Given the description of an element on the screen output the (x, y) to click on. 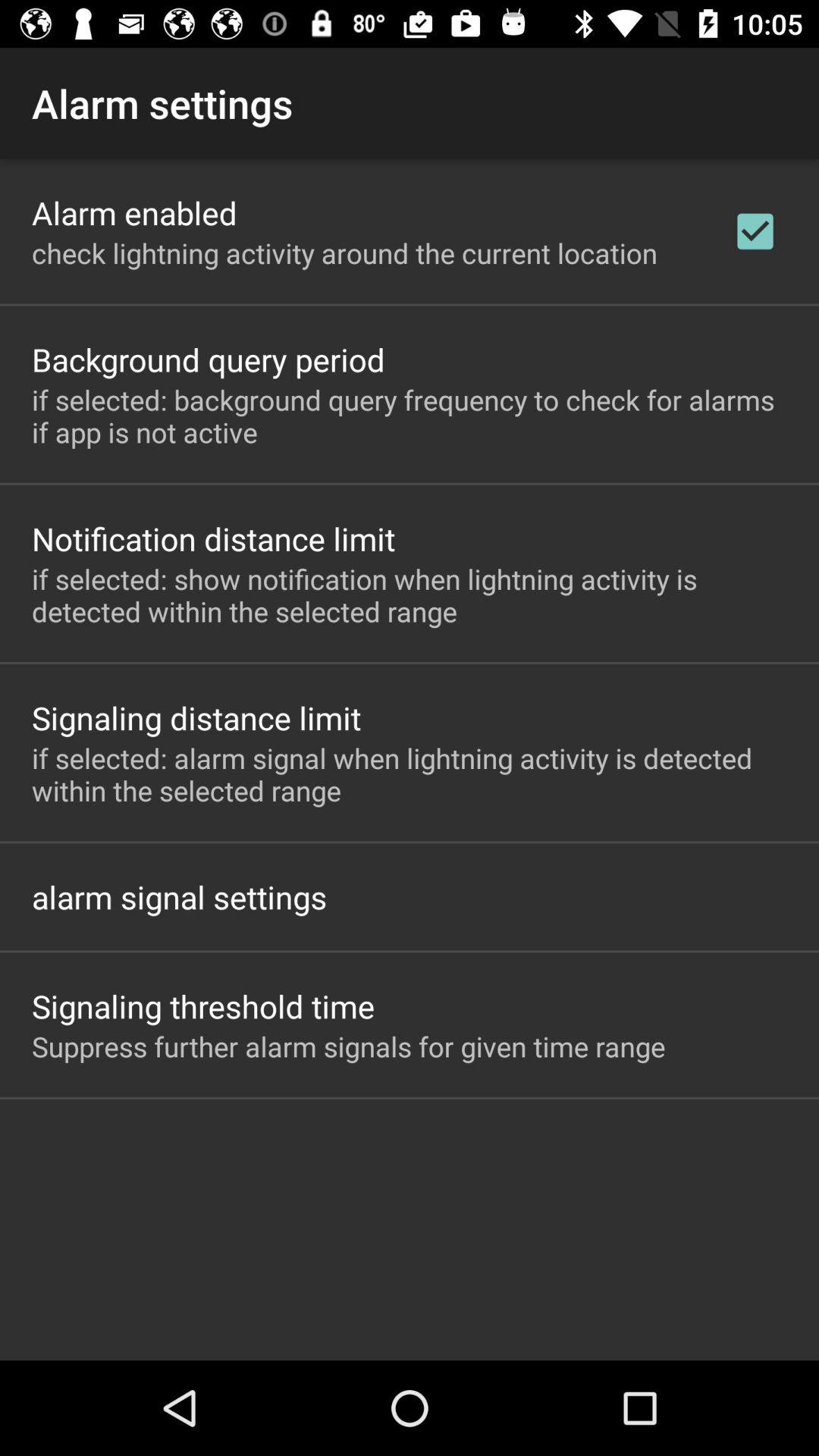
turn off app next to check lightning activity (755, 231)
